Given the description of an element on the screen output the (x, y) to click on. 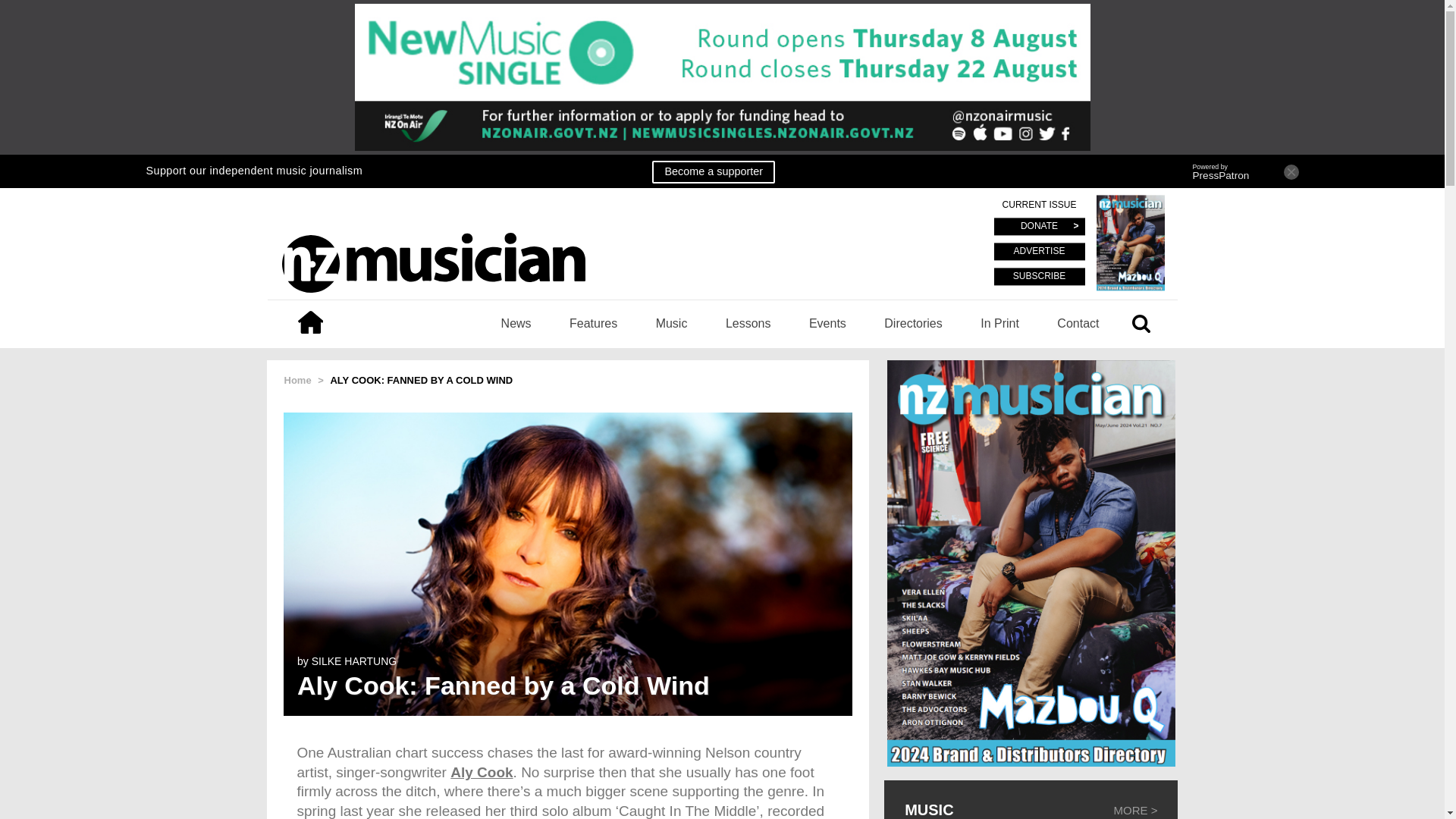
ADVERTISE (1038, 252)
DONATE (1038, 226)
Events (827, 323)
Music (671, 323)
Features (593, 323)
Lessons (748, 323)
Go to NZ Musician. (297, 379)
News (515, 323)
SUBSCRIBE (1038, 276)
